Given the description of an element on the screen output the (x, y) to click on. 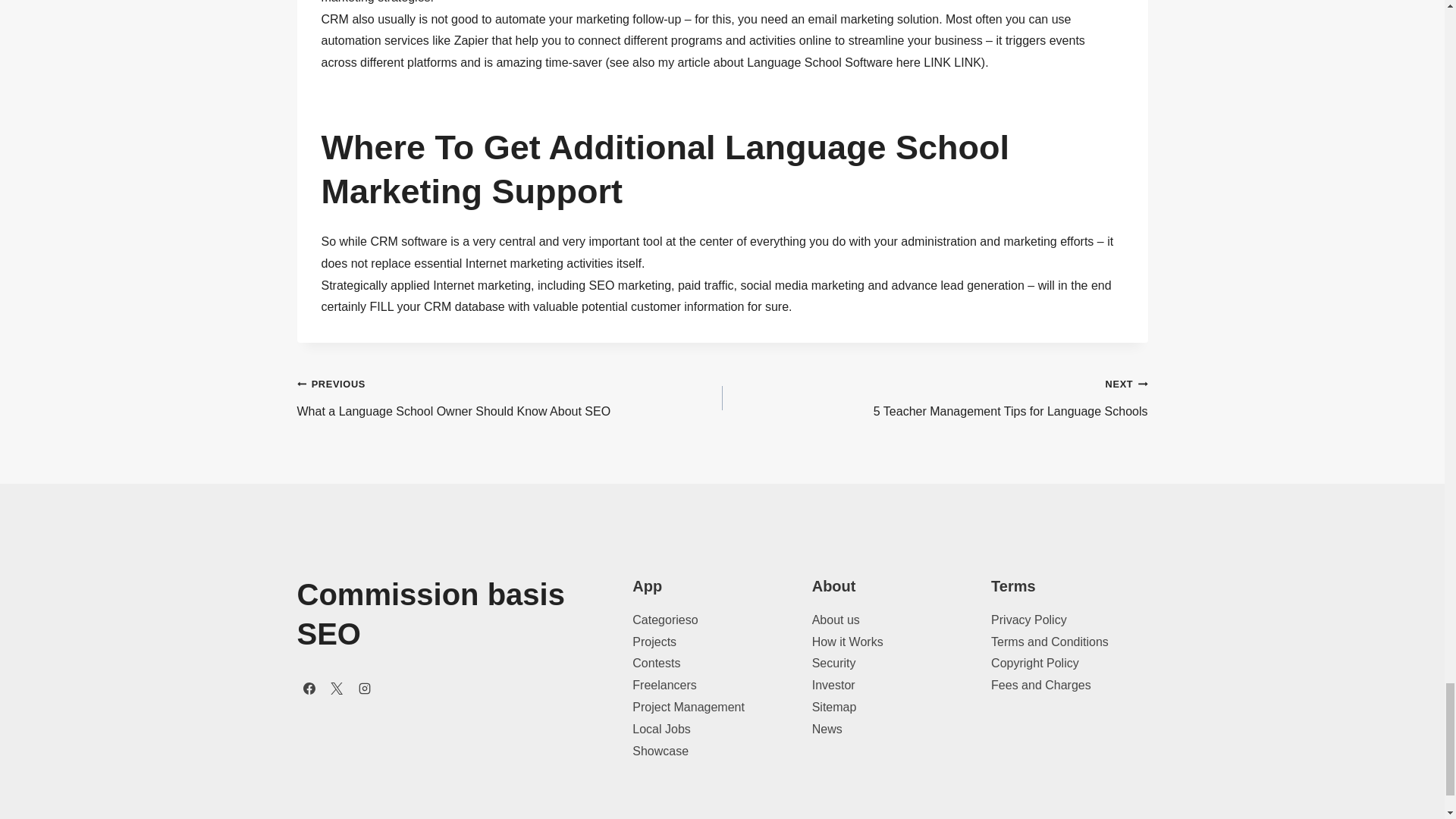
Copyright Policy (1034, 662)
Terms and Conditions (1049, 641)
Project Management (687, 707)
Freelancers (663, 684)
Investor (834, 684)
Showcase (659, 750)
Sitemap (834, 707)
Fees and Charges (934, 398)
Projects (1040, 684)
Contests (509, 398)
Categorieso (654, 641)
News (655, 662)
Security (664, 619)
